Given the description of an element on the screen output the (x, y) to click on. 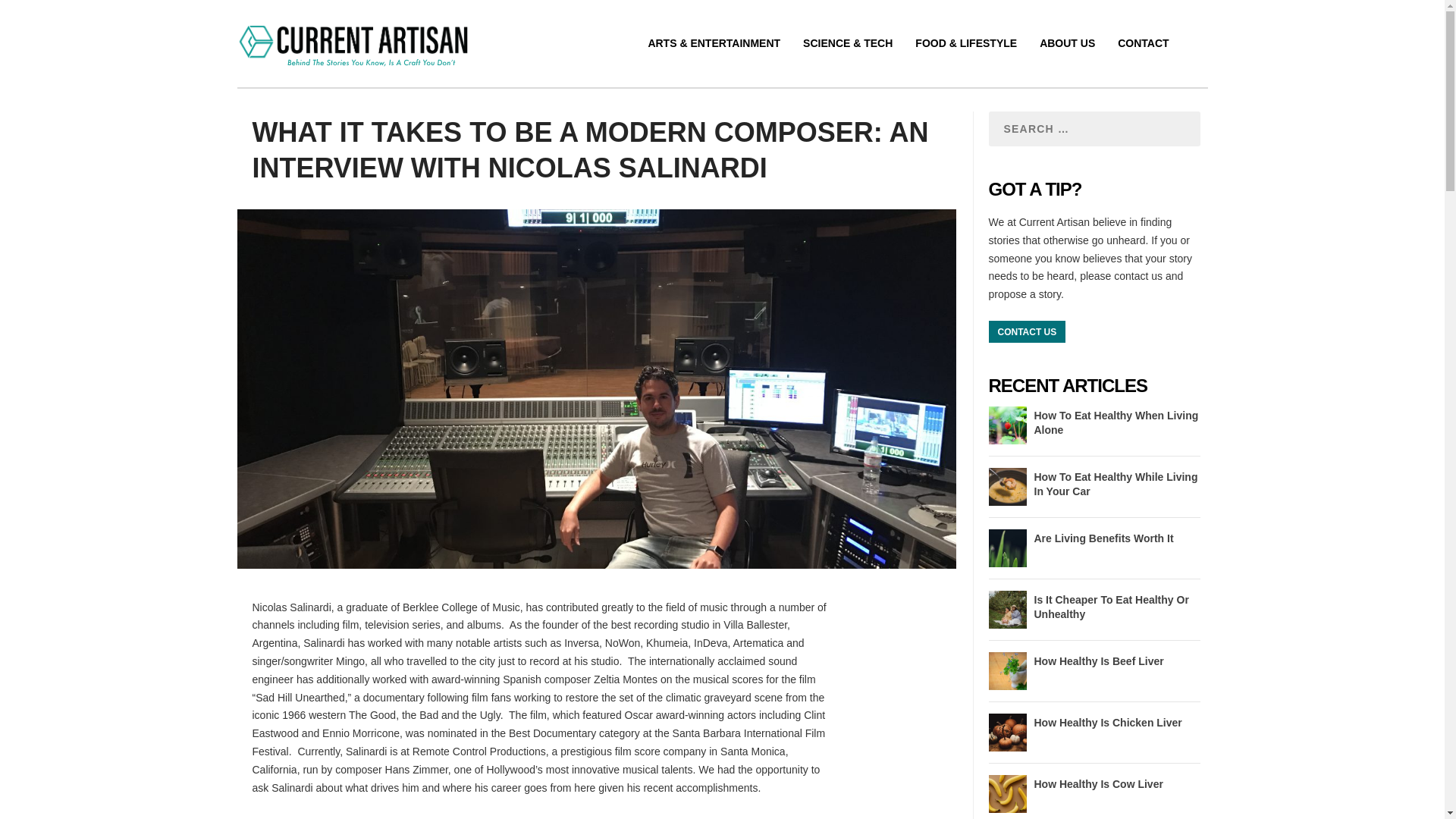
CONTACT (1143, 61)
ABOUT US (1066, 61)
Search (227, 12)
